Given the description of an element on the screen output the (x, y) to click on. 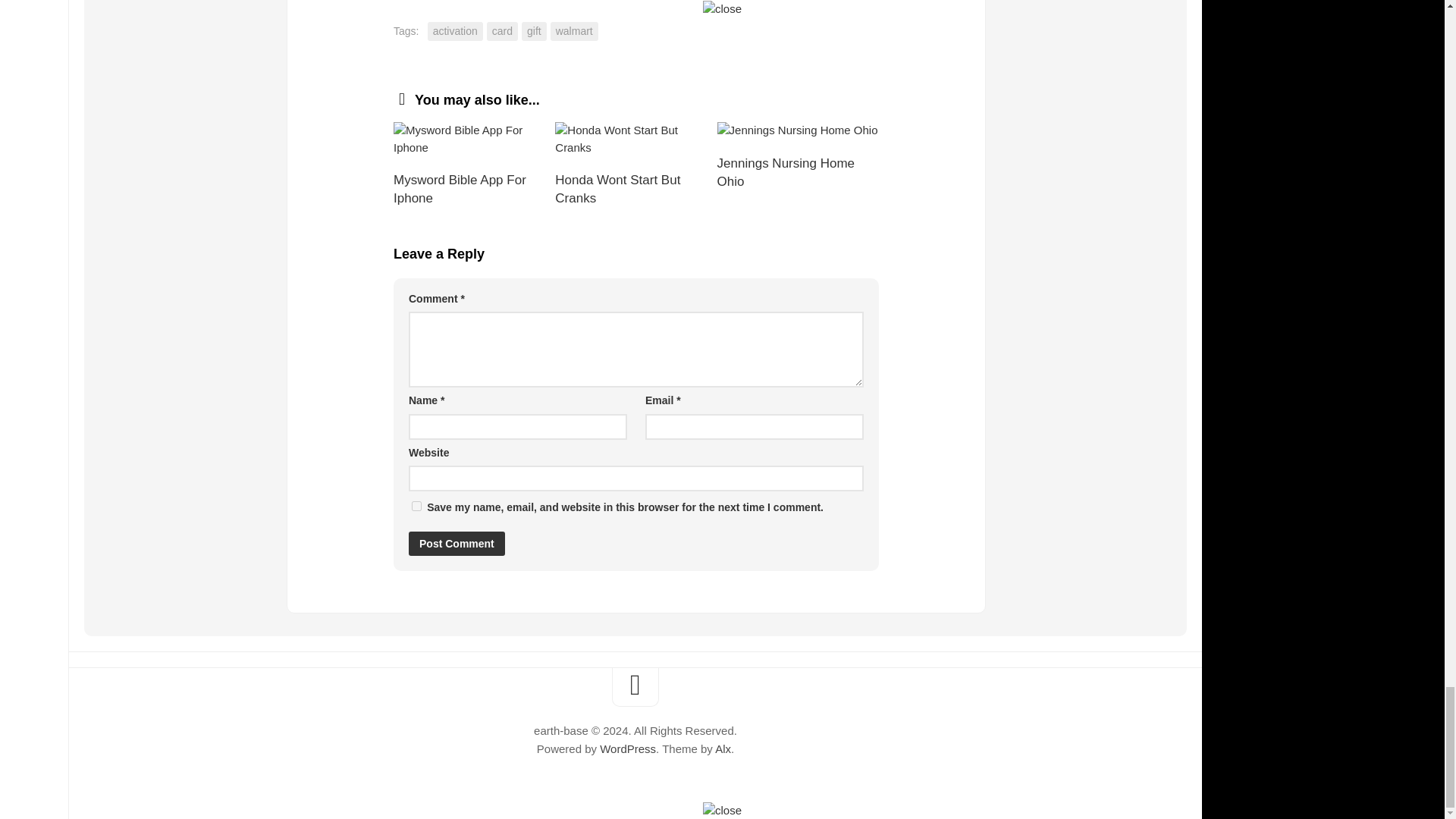
Jennings Nursing Home Ohio (797, 130)
Honda Wont Start But Cranks (635, 139)
yes (417, 506)
Post Comment (457, 543)
